Given the description of an element on the screen output the (x, y) to click on. 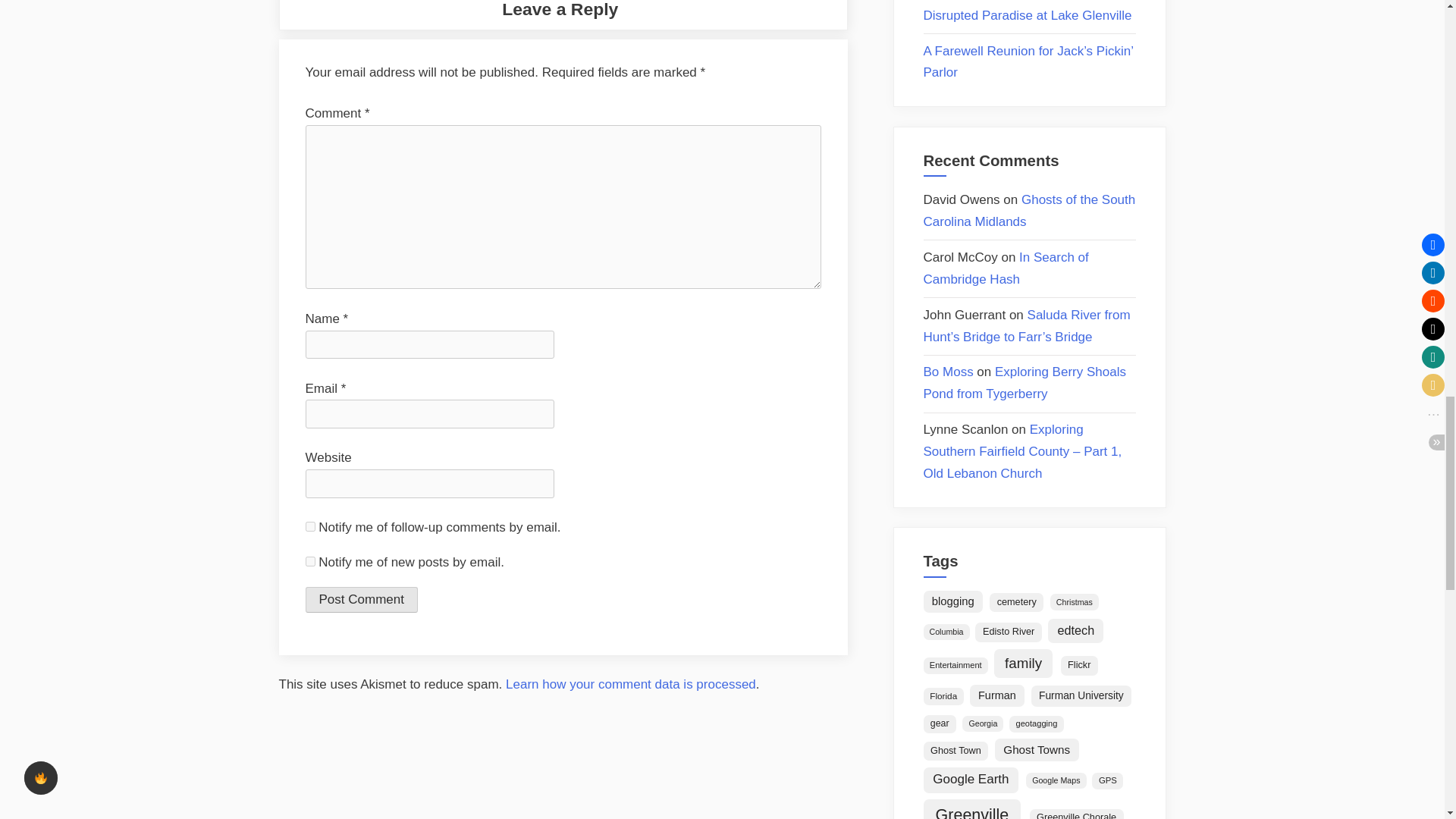
Post Comment (360, 599)
subscribe (309, 561)
Learn how your comment data is processed (630, 684)
Post Comment (360, 599)
subscribe (309, 526)
